Given the description of an element on the screen output the (x, y) to click on. 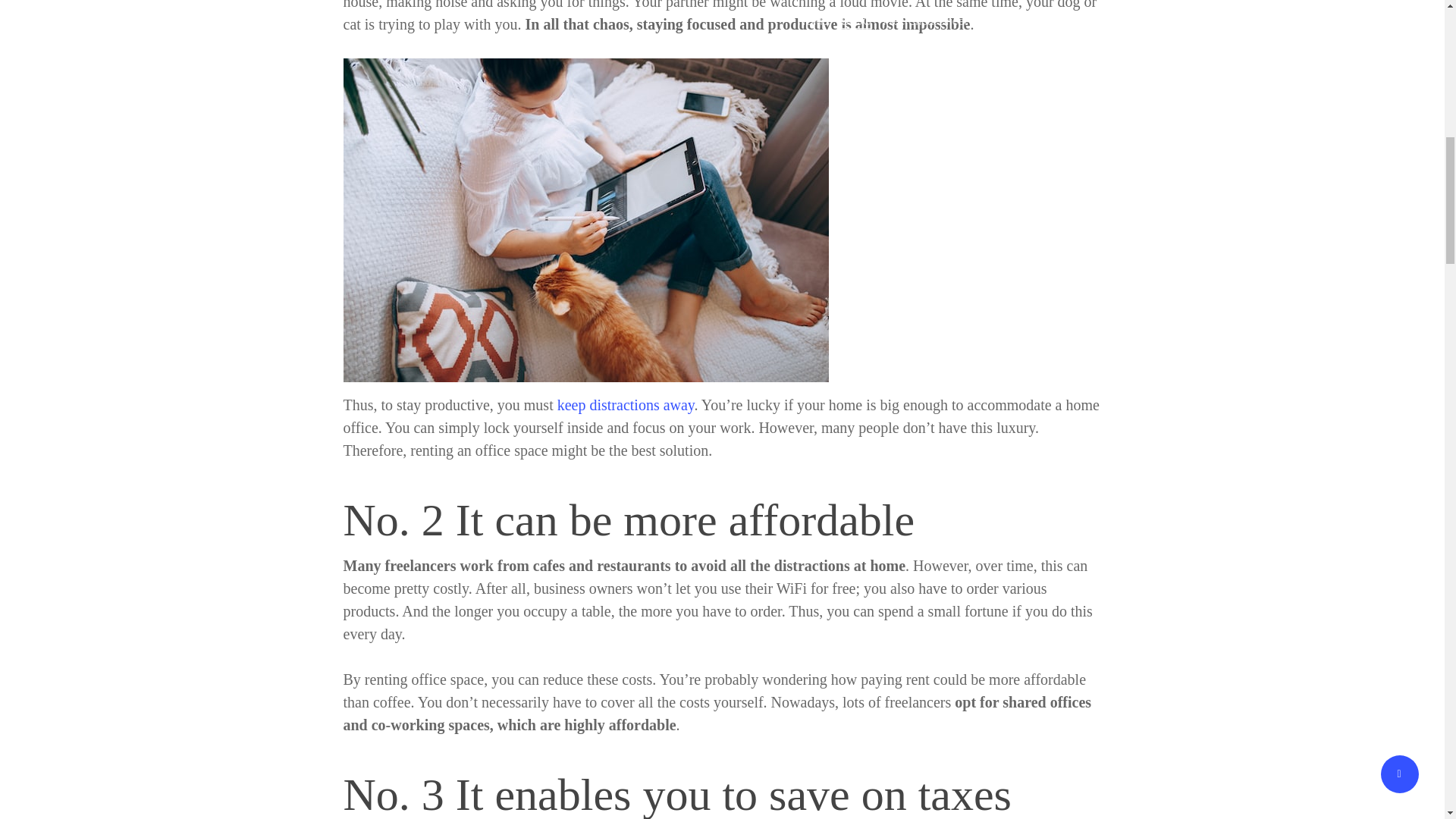
keep distractions away (625, 404)
